Given the description of an element on the screen output the (x, y) to click on. 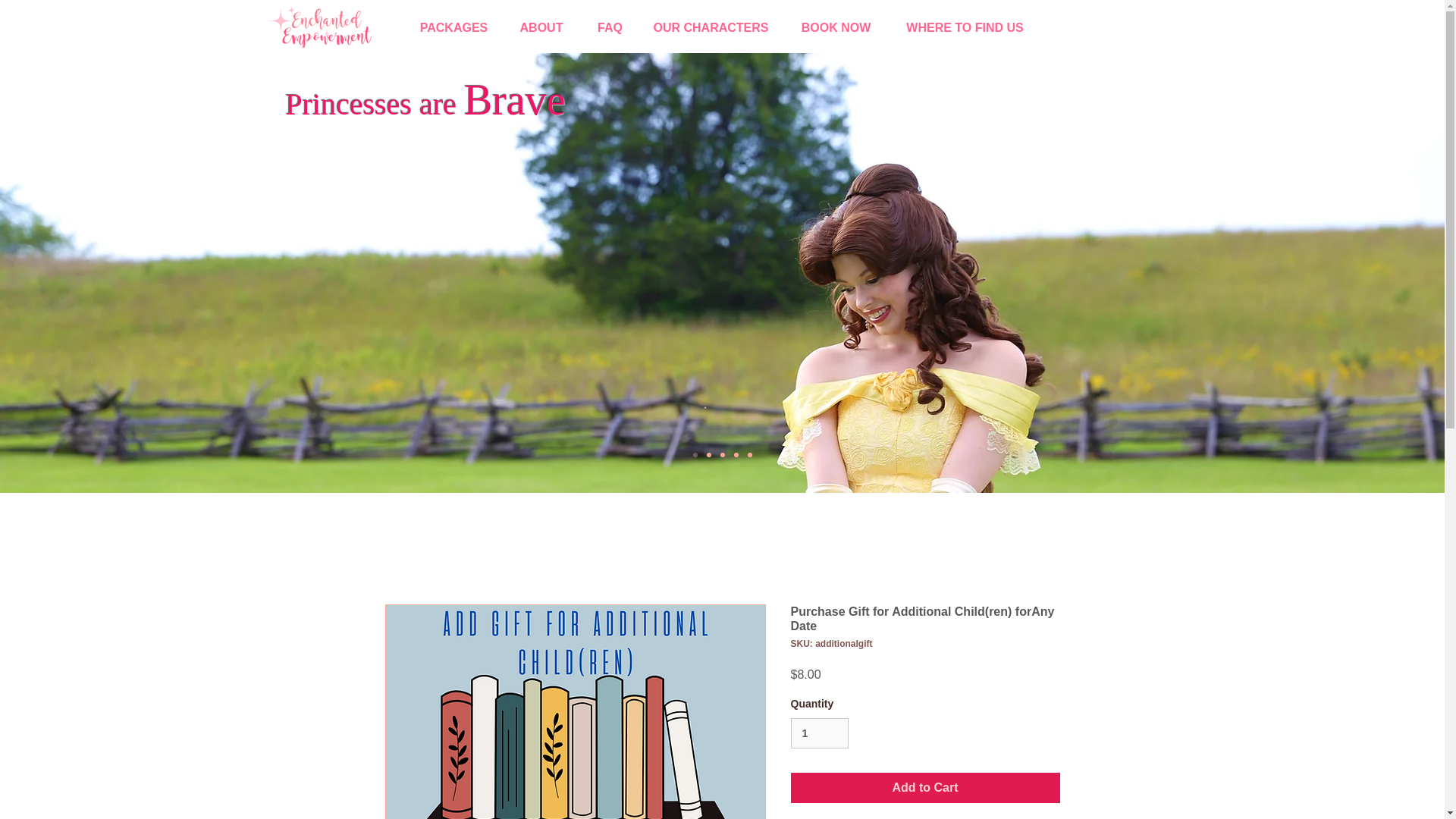
Add to Cart (924, 788)
BOOK NOW (834, 27)
OUR CHARACTERS (710, 27)
FAQ (609, 27)
WHERE TO FIND US (964, 27)
ABOUT (541, 27)
PACKAGES (453, 27)
1 (818, 733)
